Given the description of an element on the screen output the (x, y) to click on. 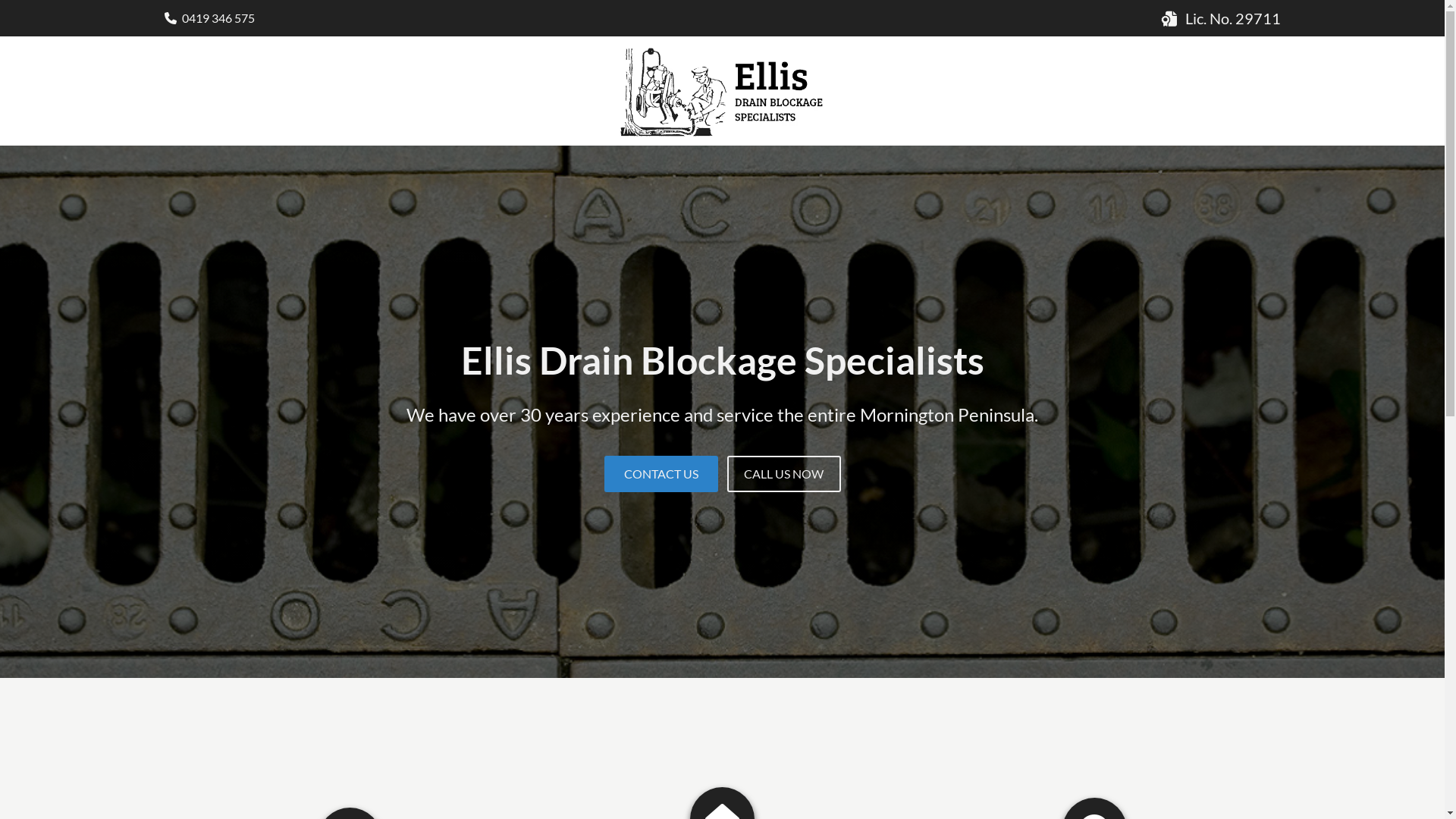
Lic. No. 29711 Element type: text (1232, 18)
CALL US NOW Element type: text (783, 473)
0419 346 575 Element type: text (218, 17)
CONTACT US Element type: text (660, 473)
CALL US NOW Element type: text (783, 472)
CONTACT US Element type: text (660, 472)
